Given the description of an element on the screen output the (x, y) to click on. 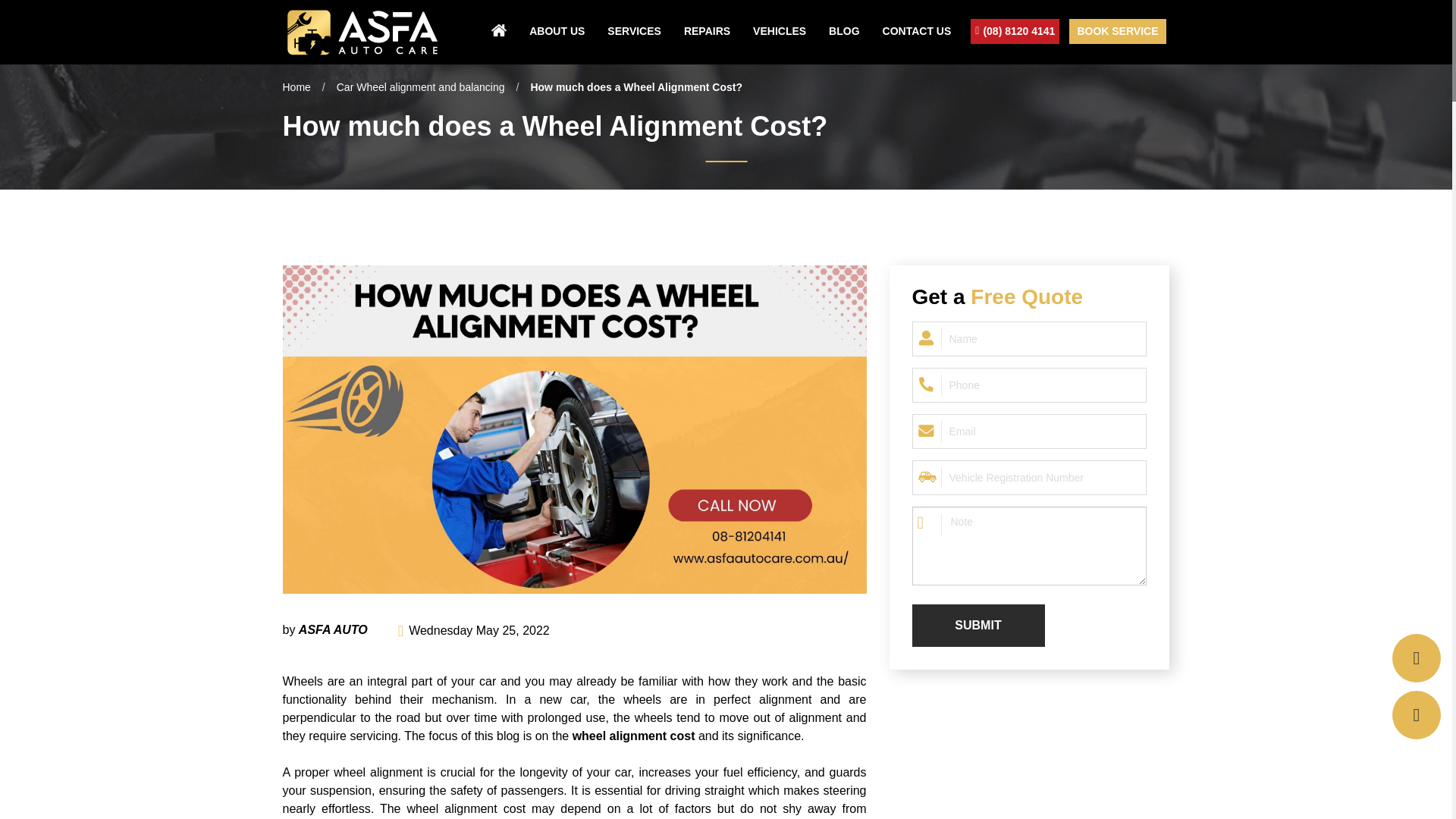
SERVICES (633, 30)
VEHICLES (779, 30)
How much does a Wheel Alignment Cost? (635, 87)
ABOUT US (556, 30)
REPAIRS (707, 30)
Home (296, 87)
